Given the description of an element on the screen output the (x, y) to click on. 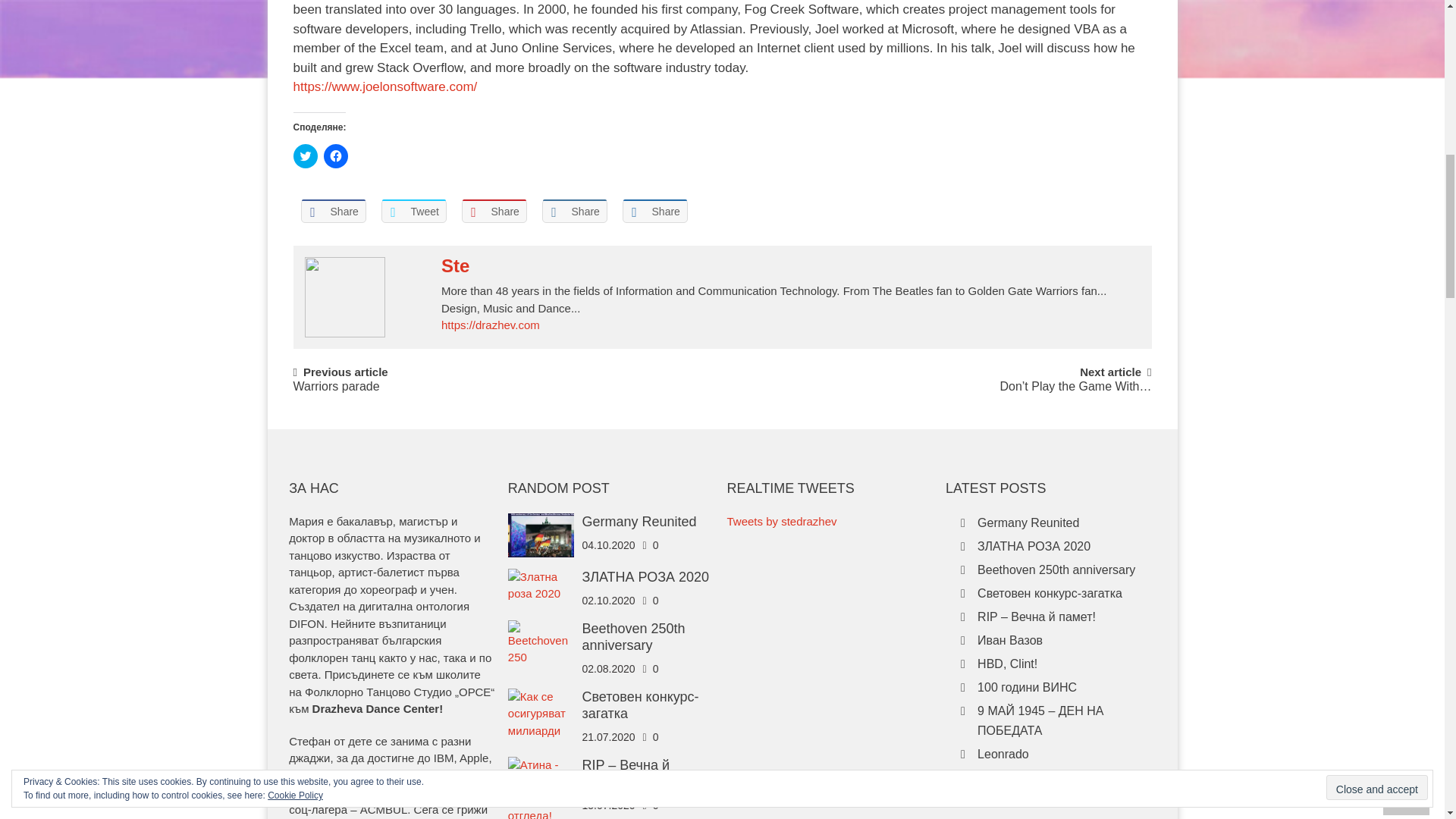
Share on Digg (654, 210)
Share on Facebook (332, 210)
Click to share on Twitter (304, 156)
Click to share on Facebook (335, 156)
Share on Twitter (412, 210)
Share on Pinterest (493, 210)
Share on LinkedIn (574, 210)
